Given the description of an element on the screen output the (x, y) to click on. 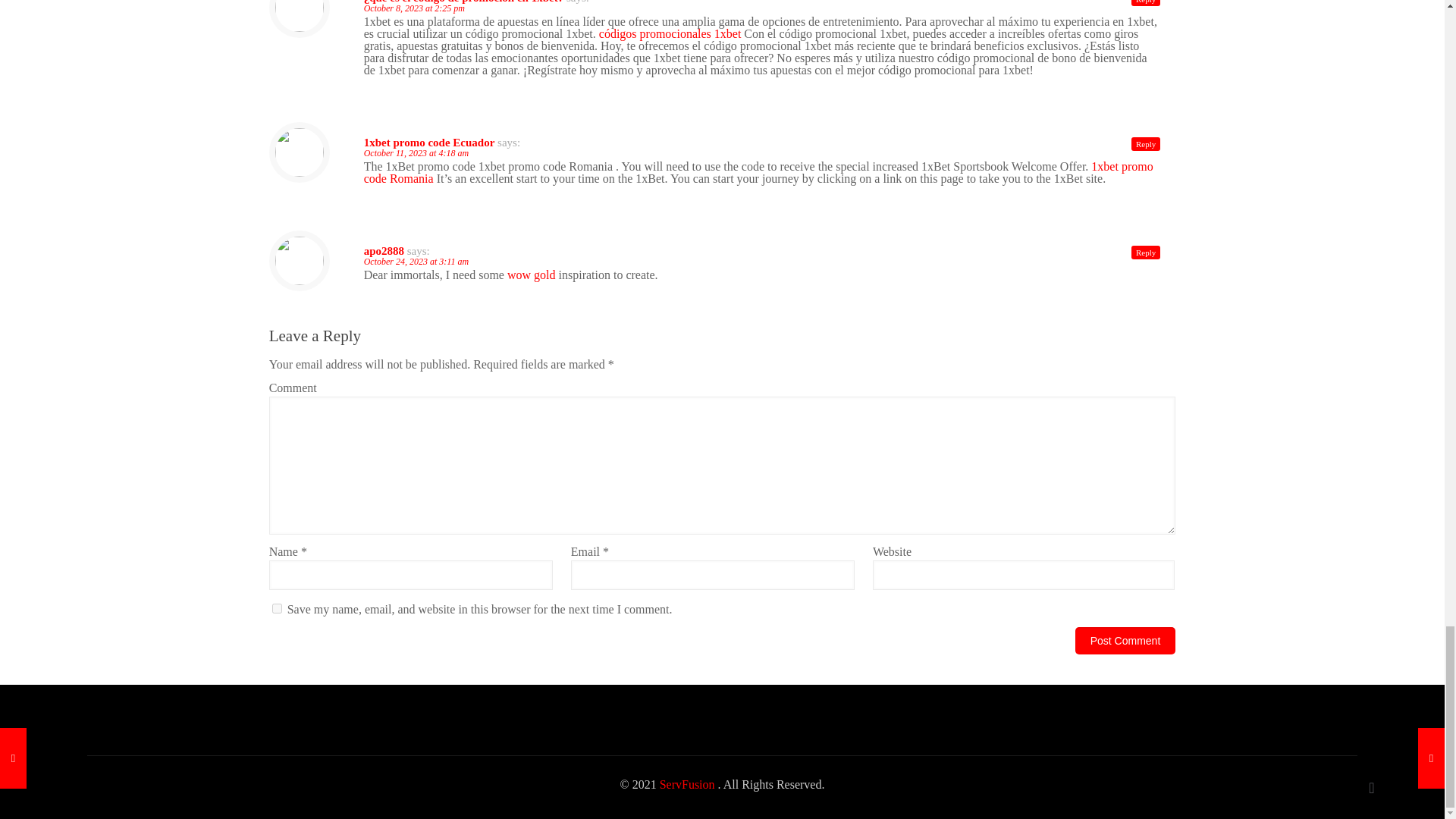
1xbet promo code Ecuador (429, 142)
Reply (1145, 2)
October 8, 2023 at 2:25 pm (414, 8)
yes (277, 608)
Post Comment (1125, 640)
